Given the description of an element on the screen output the (x, y) to click on. 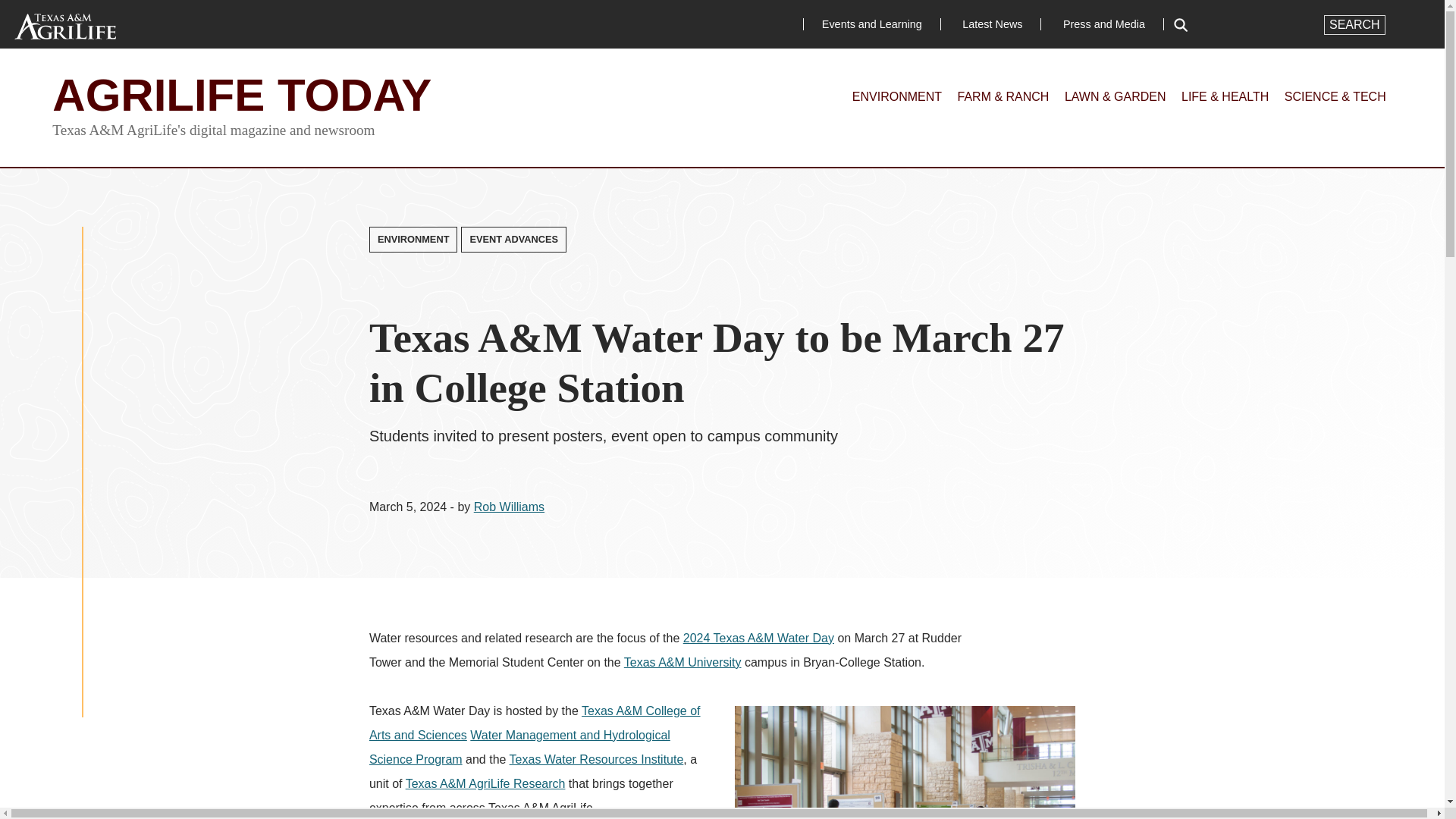
Search (1354, 25)
Press and Media (1104, 24)
Search (1354, 25)
Search (1354, 25)
Rob Williams (509, 506)
AGRILIFE TODAY (241, 94)
Posts by Rob Williams (509, 506)
Water Management and Hydrological Science Program (519, 746)
ENVIRONMENT (896, 96)
EVENT ADVANCES (513, 239)
Events and Learning (871, 24)
Latest News (992, 24)
Texas Water Resources Institute (596, 758)
ENVIRONMENT (413, 239)
